Given the description of an element on the screen output the (x, y) to click on. 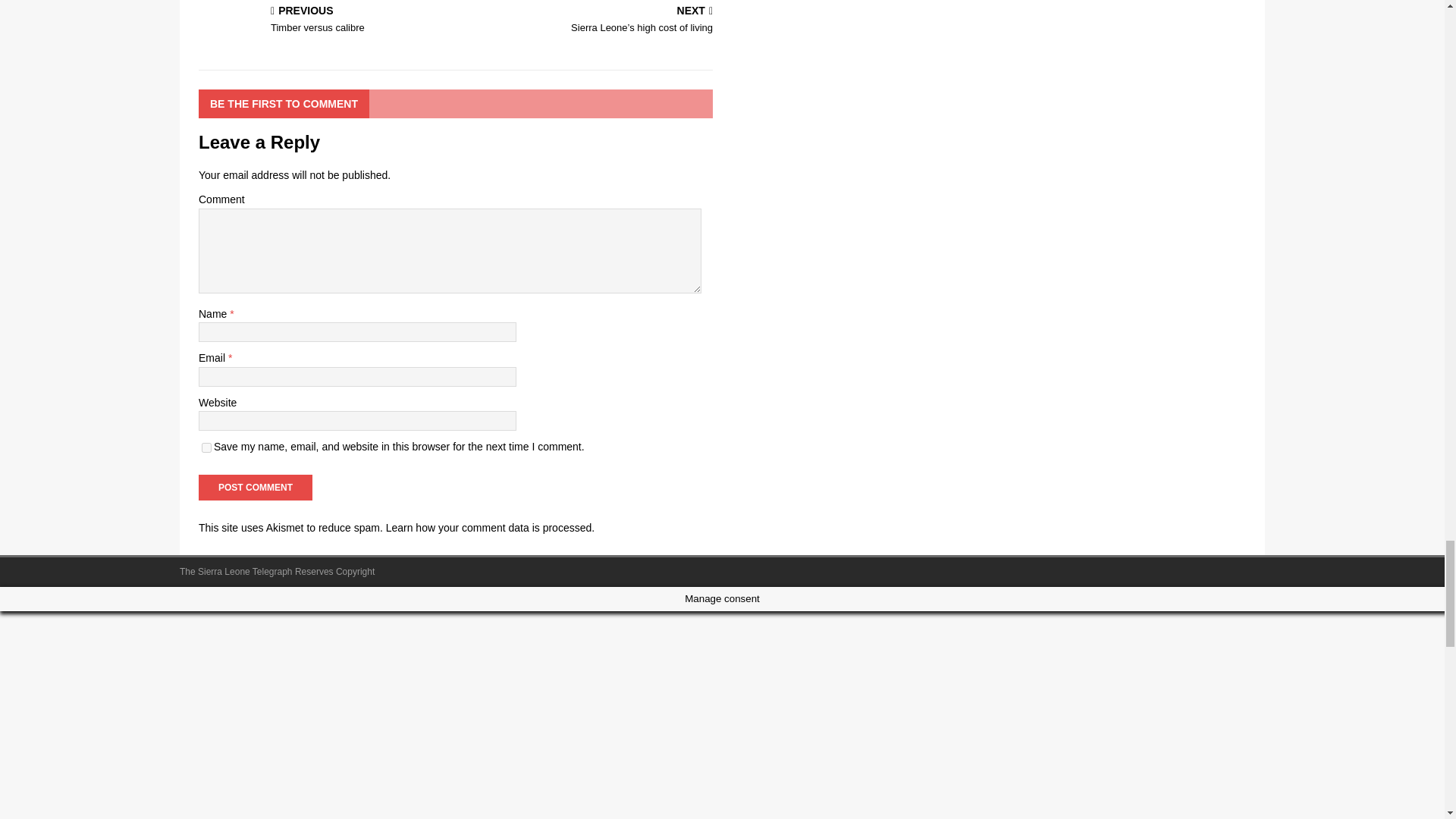
Post Comment (255, 487)
yes (206, 447)
